Given the description of an element on the screen output the (x, y) to click on. 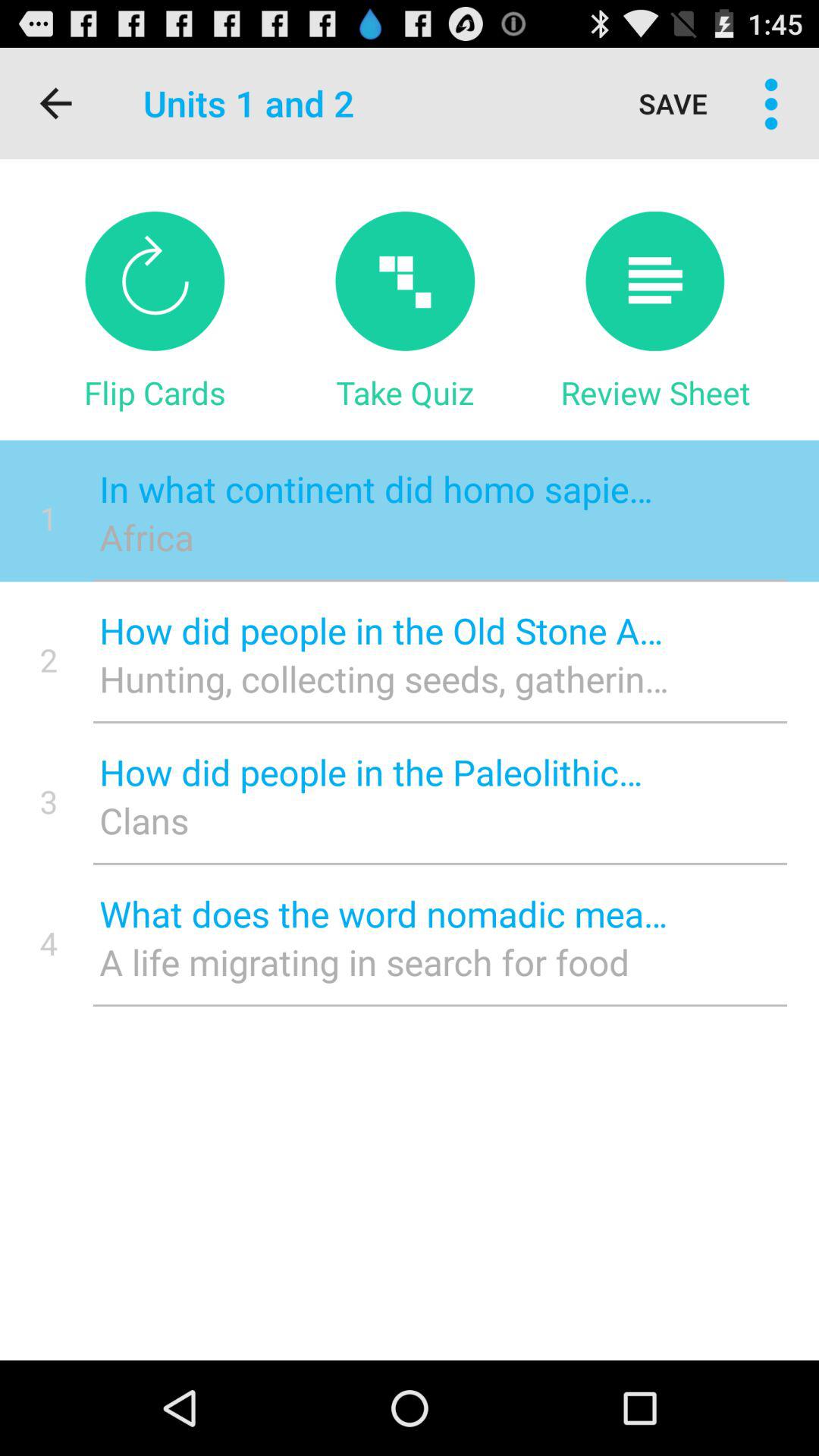
select the 3 item (48, 800)
